Given the description of an element on the screen output the (x, y) to click on. 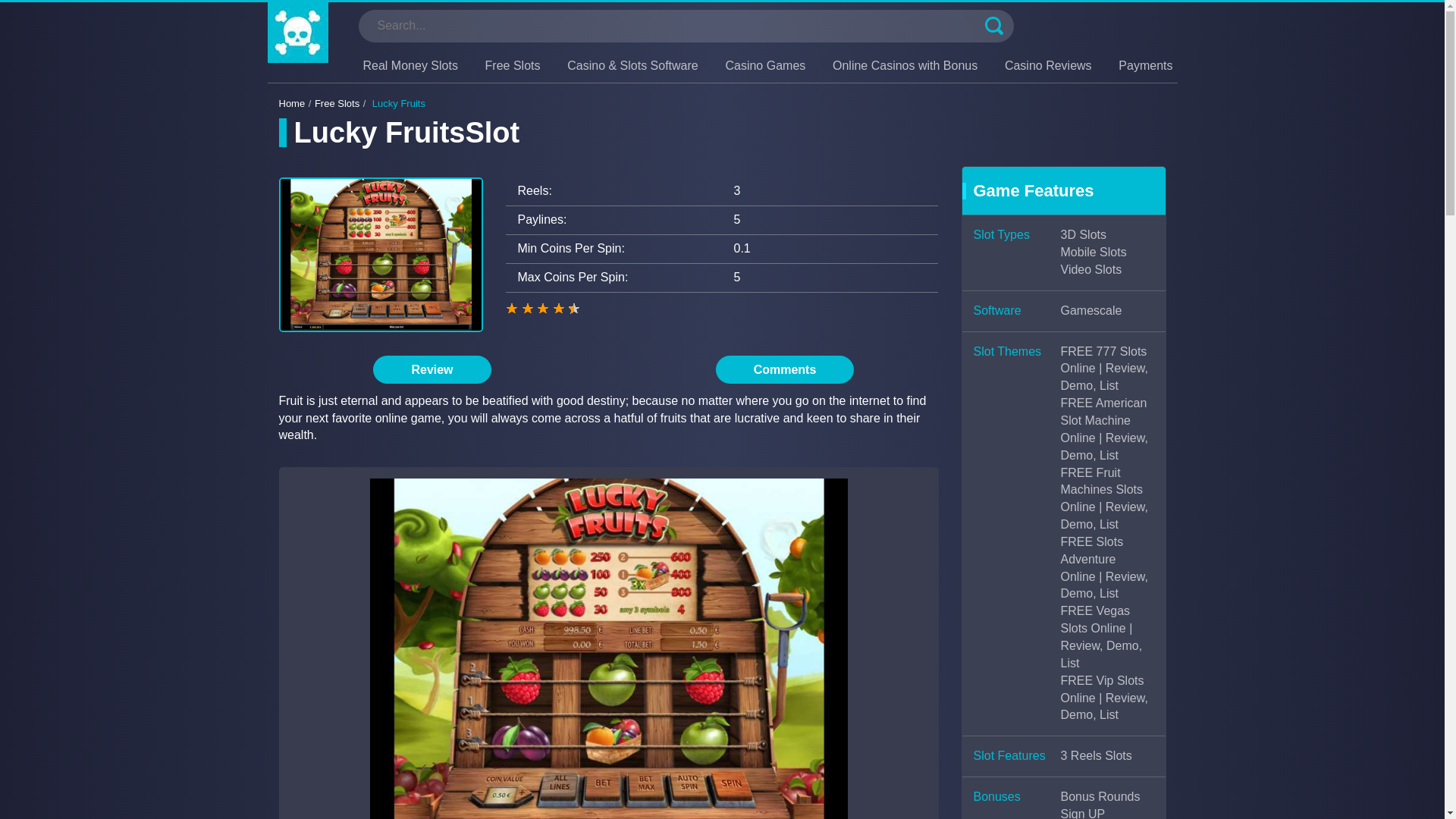
Free Slots (512, 65)
Online Casinos with Bonus (904, 65)
Casino Reviews (1048, 65)
Casino Games (765, 65)
Real Money Slots (409, 65)
Payments (1145, 65)
